Given the description of an element on the screen output the (x, y) to click on. 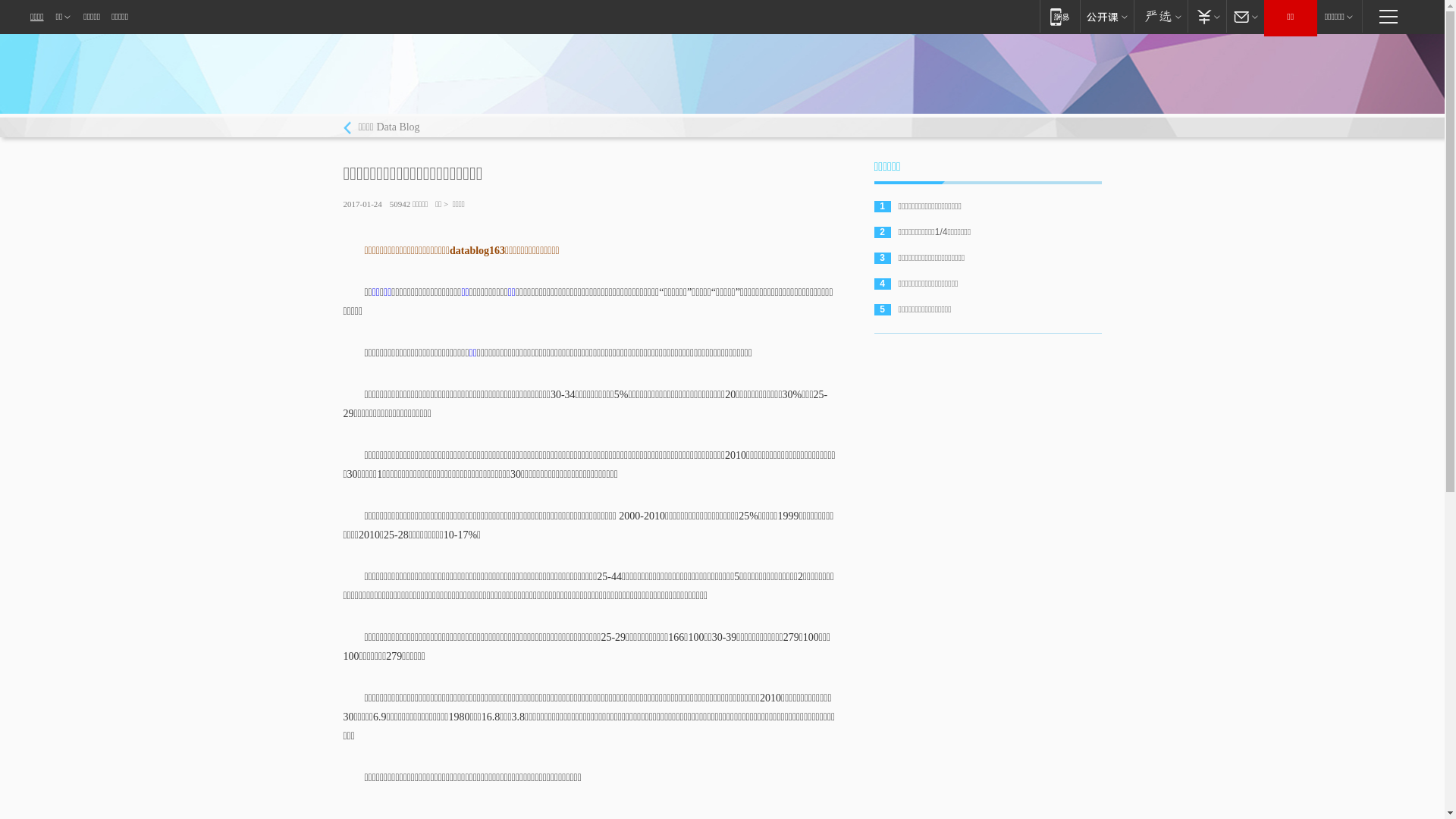
50942 Element type: text (400, 203)
